Given the description of an element on the screen output the (x, y) to click on. 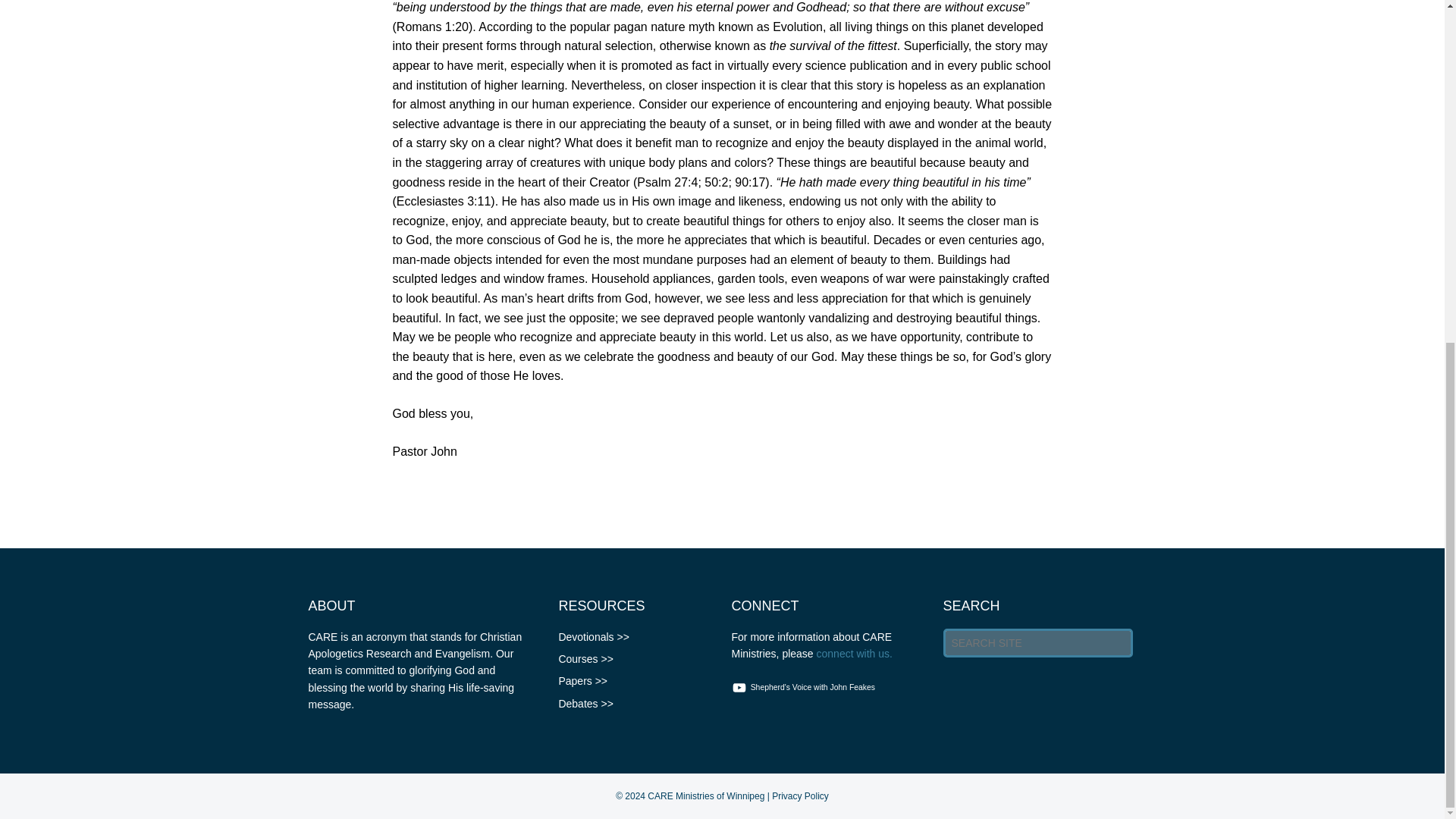
connect with us. (854, 653)
Shepherd's Voice with John Feakes (804, 687)
Privacy Policy (799, 796)
